Given the description of an element on the screen output the (x, y) to click on. 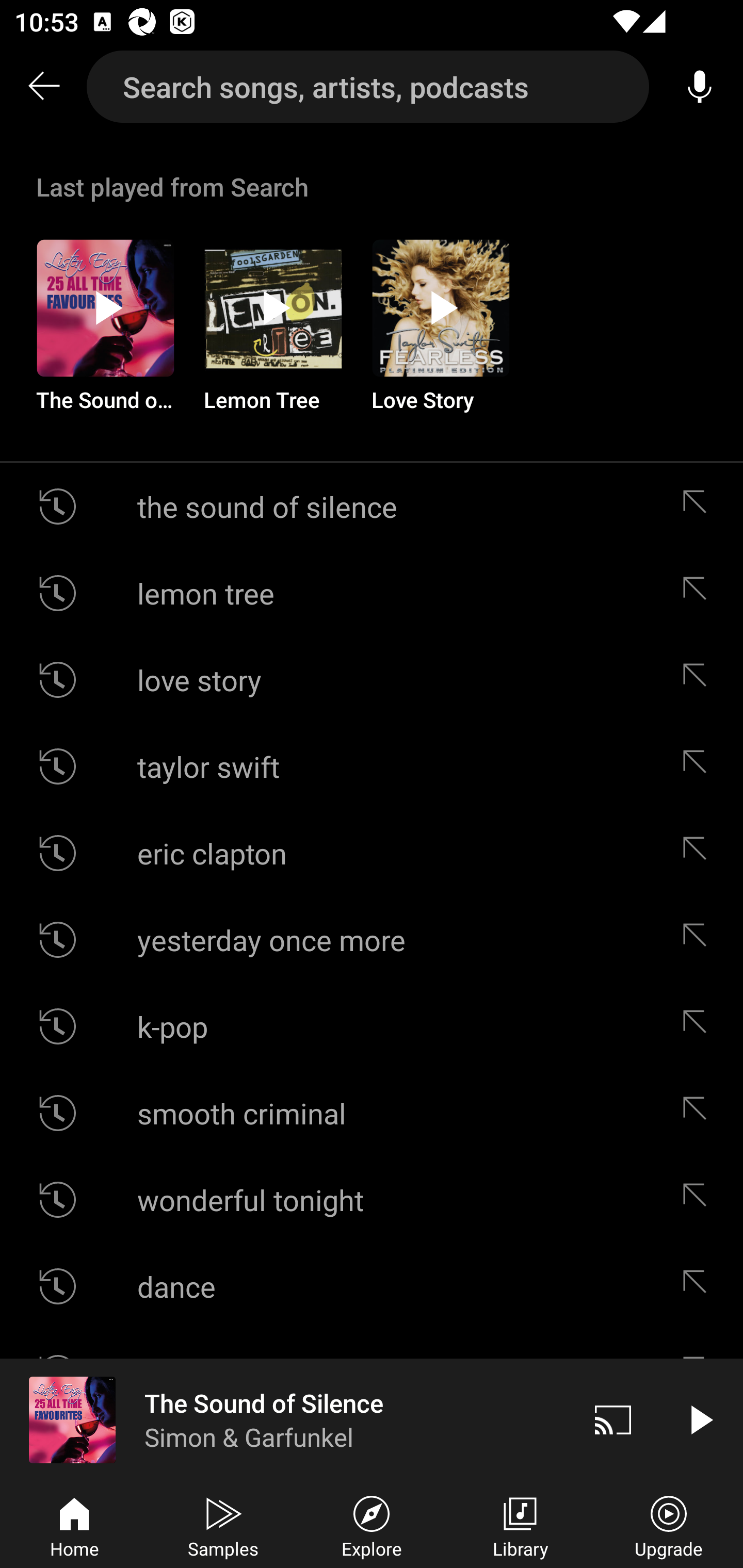
Search back (43, 86)
Search songs, artists, podcasts (367, 86)
Voice search (699, 86)
Edit suggestion the sound of silence (699, 506)
lemon tree Edit suggestion lemon tree (371, 593)
Edit suggestion lemon tree (699, 593)
love story Edit suggestion love story (371, 679)
Edit suggestion love story (699, 679)
taylor swift Edit suggestion taylor swift (371, 765)
Edit suggestion taylor swift (699, 765)
eric clapton Edit suggestion eric clapton (371, 852)
Edit suggestion eric clapton (699, 852)
Edit suggestion yesterday once more (699, 939)
k-pop Edit suggestion k-pop (371, 1026)
Edit suggestion k-pop (699, 1026)
smooth criminal Edit suggestion smooth criminal (371, 1113)
Edit suggestion smooth criminal (699, 1113)
Edit suggestion wonderful tonight (699, 1200)
dance Edit suggestion dance (371, 1286)
Edit suggestion dance (699, 1286)
The Sound of Silence Simon & Garfunkel (284, 1419)
Cast. Disconnected (612, 1419)
Play video (699, 1419)
Home (74, 1524)
Samples (222, 1524)
Explore (371, 1524)
Library (519, 1524)
Upgrade (668, 1524)
